Given the description of an element on the screen output the (x, y) to click on. 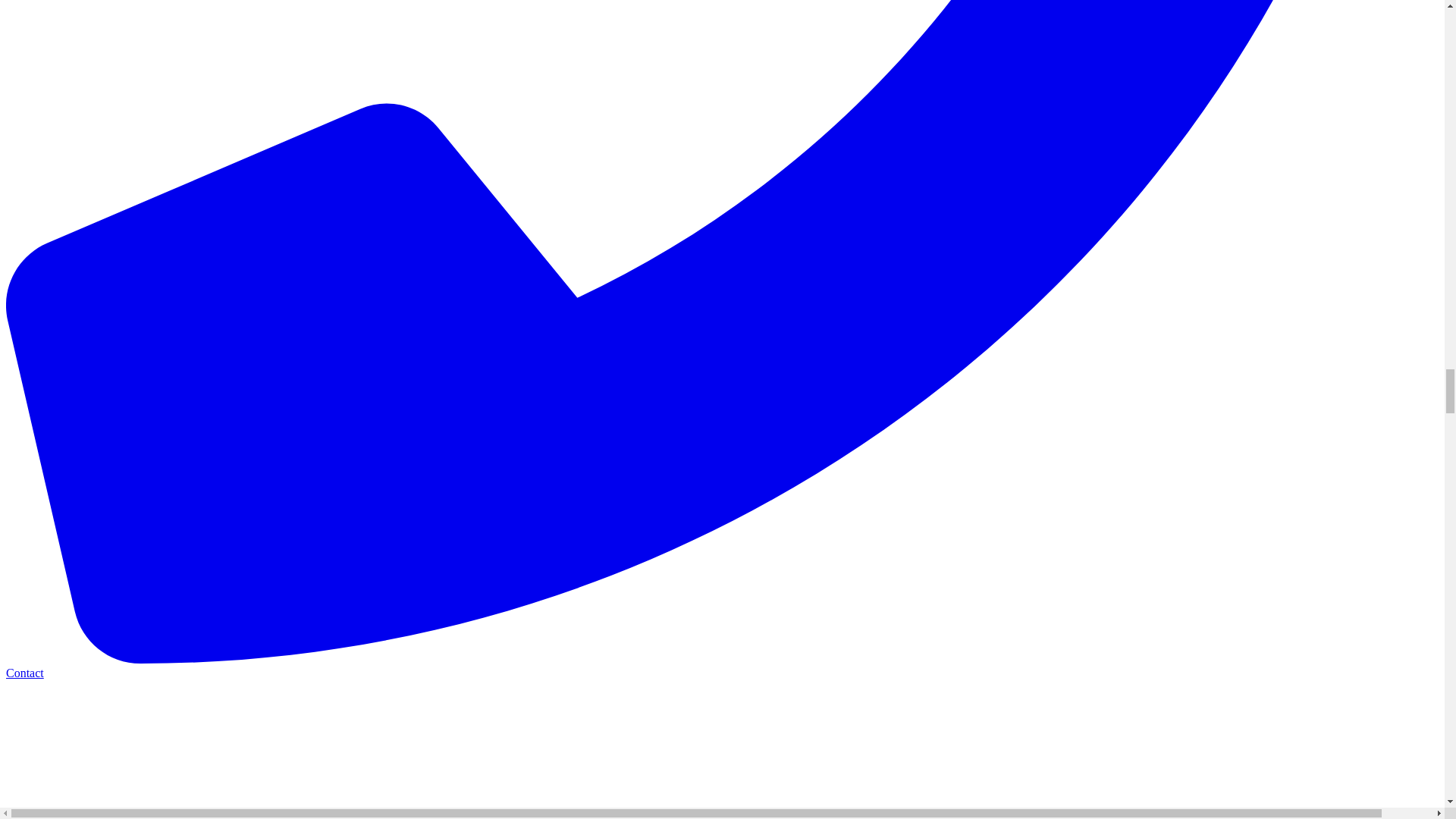
Contact (721, 665)
